Given the description of an element on the screen output the (x, y) to click on. 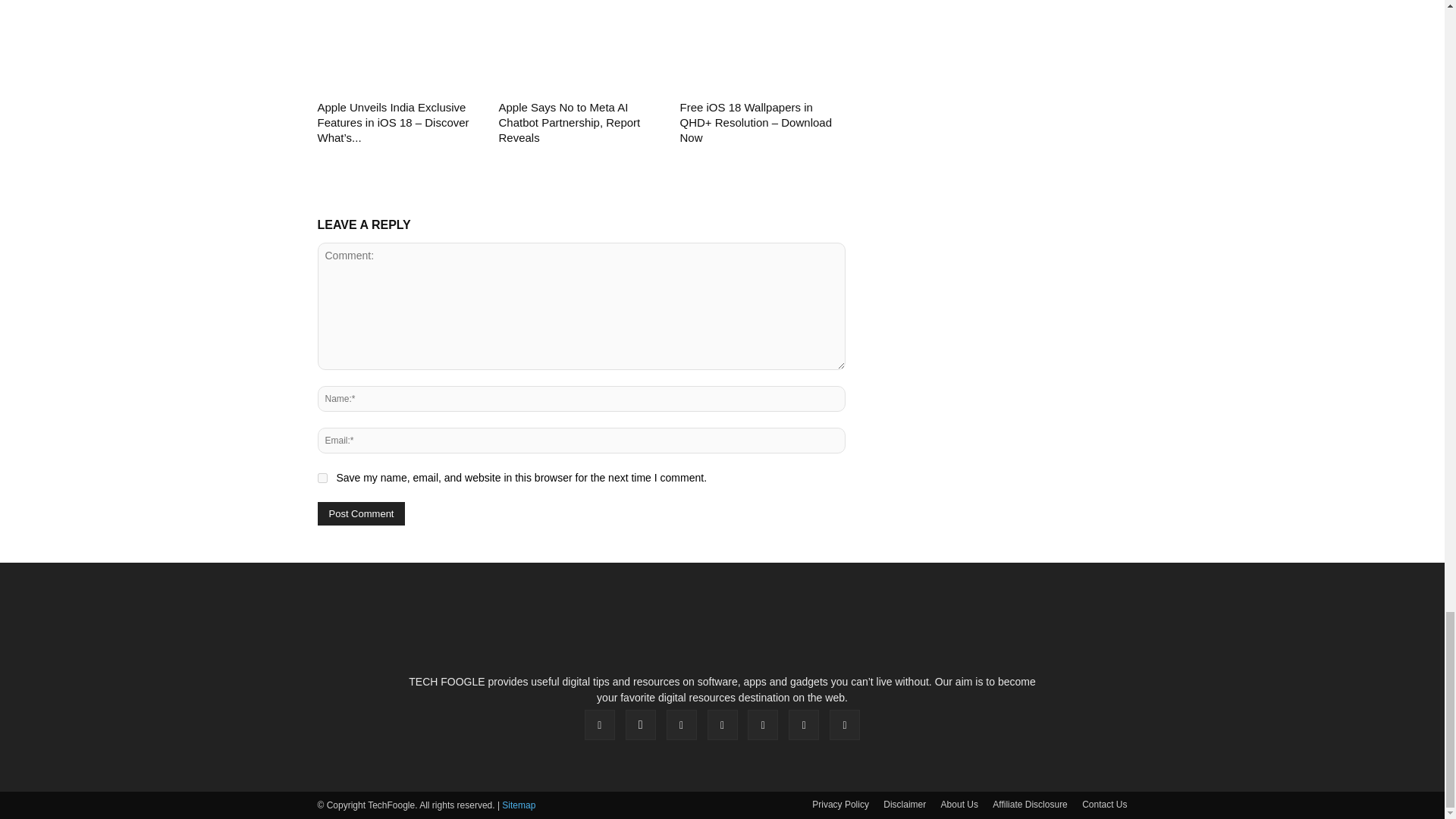
yes (321, 478)
Post Comment (360, 513)
